Given the description of an element on the screen output the (x, y) to click on. 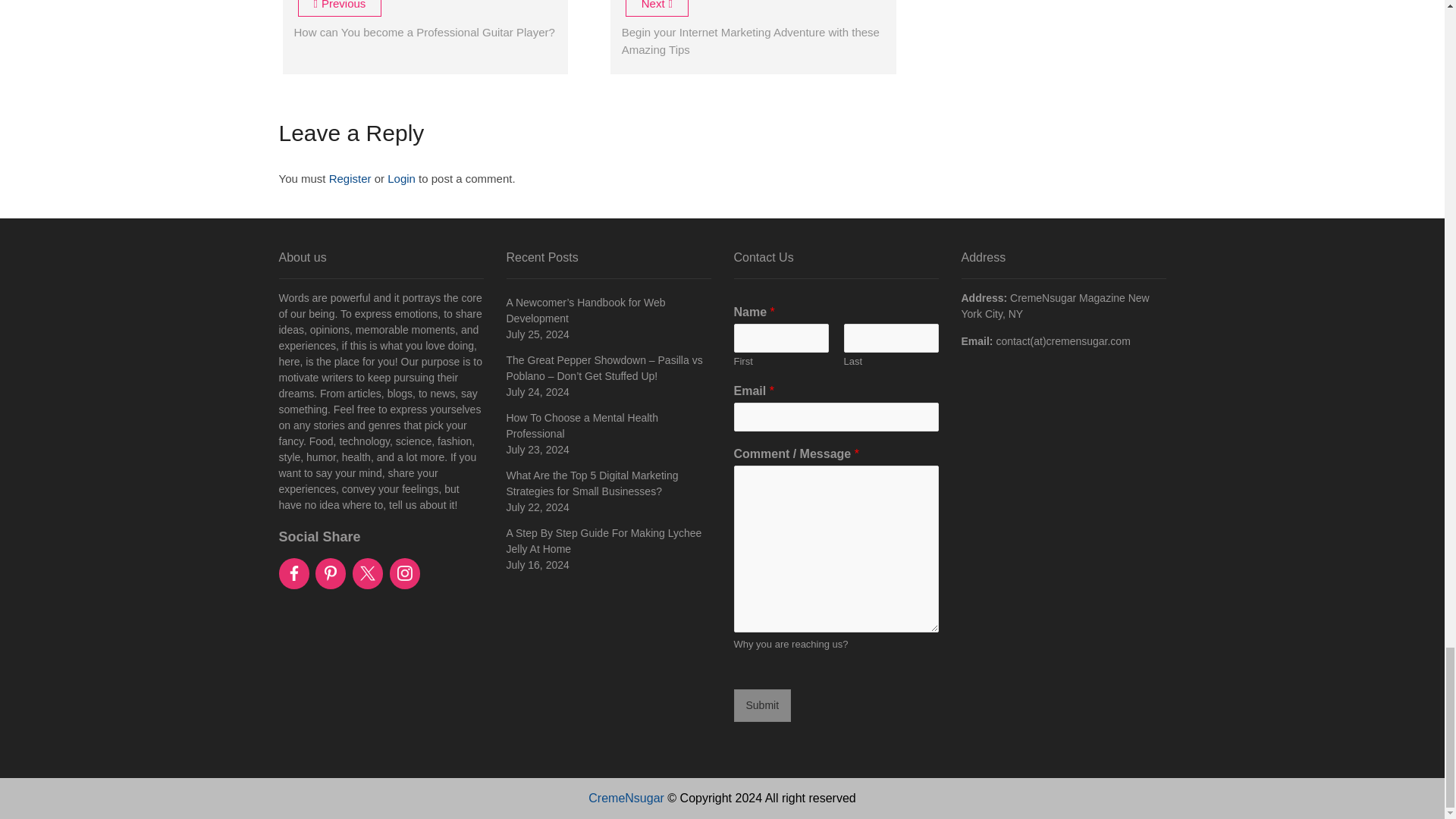
CremeNsugar (625, 797)
